Given the description of an element on the screen output the (x, y) to click on. 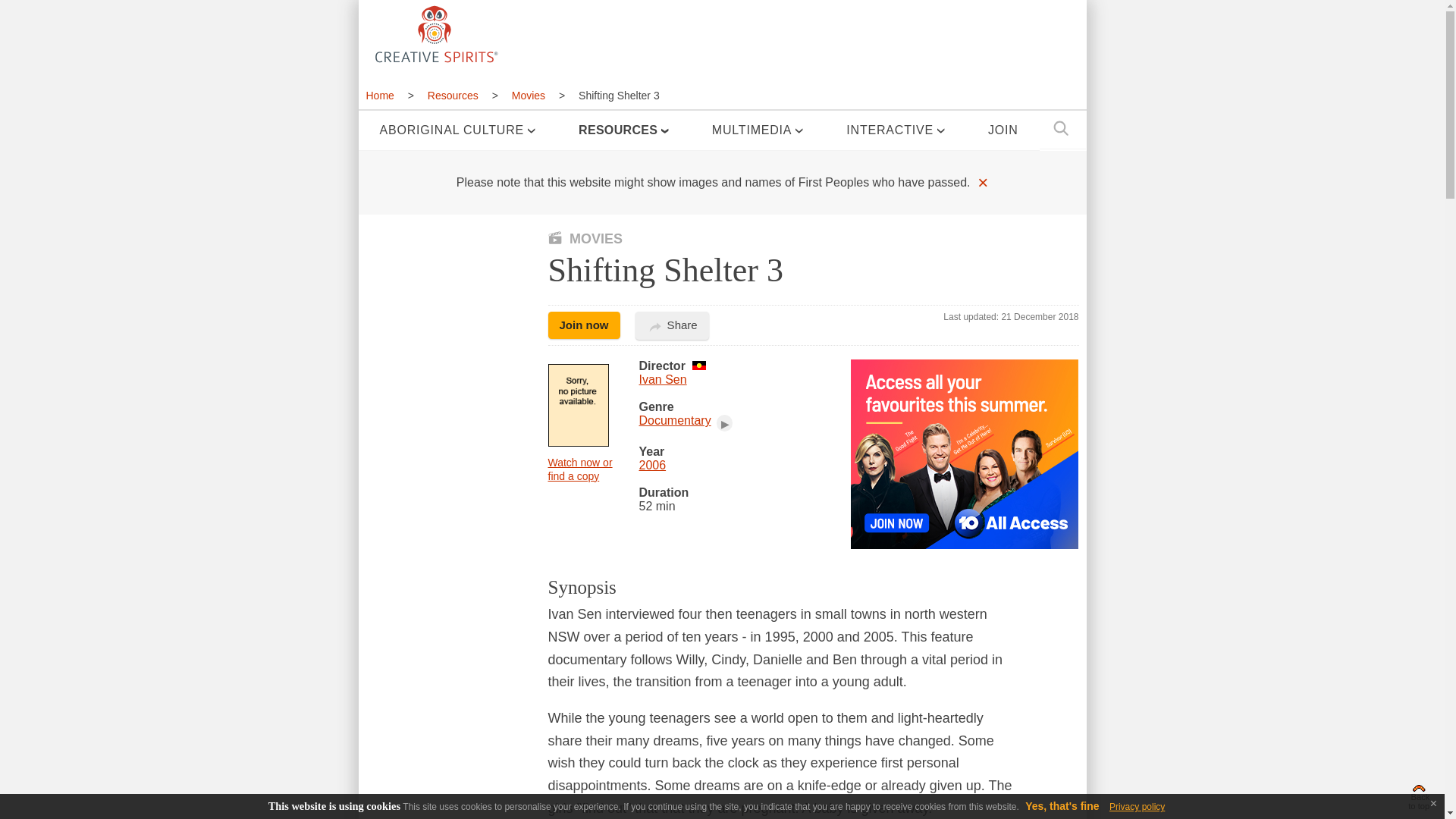
Home (384, 94)
Resources (452, 94)
Creative Spirits (433, 33)
RESOURCES (623, 130)
ABORIGINAL CULTURE (457, 130)
Movies (528, 94)
